Given the description of an element on the screen output the (x, y) to click on. 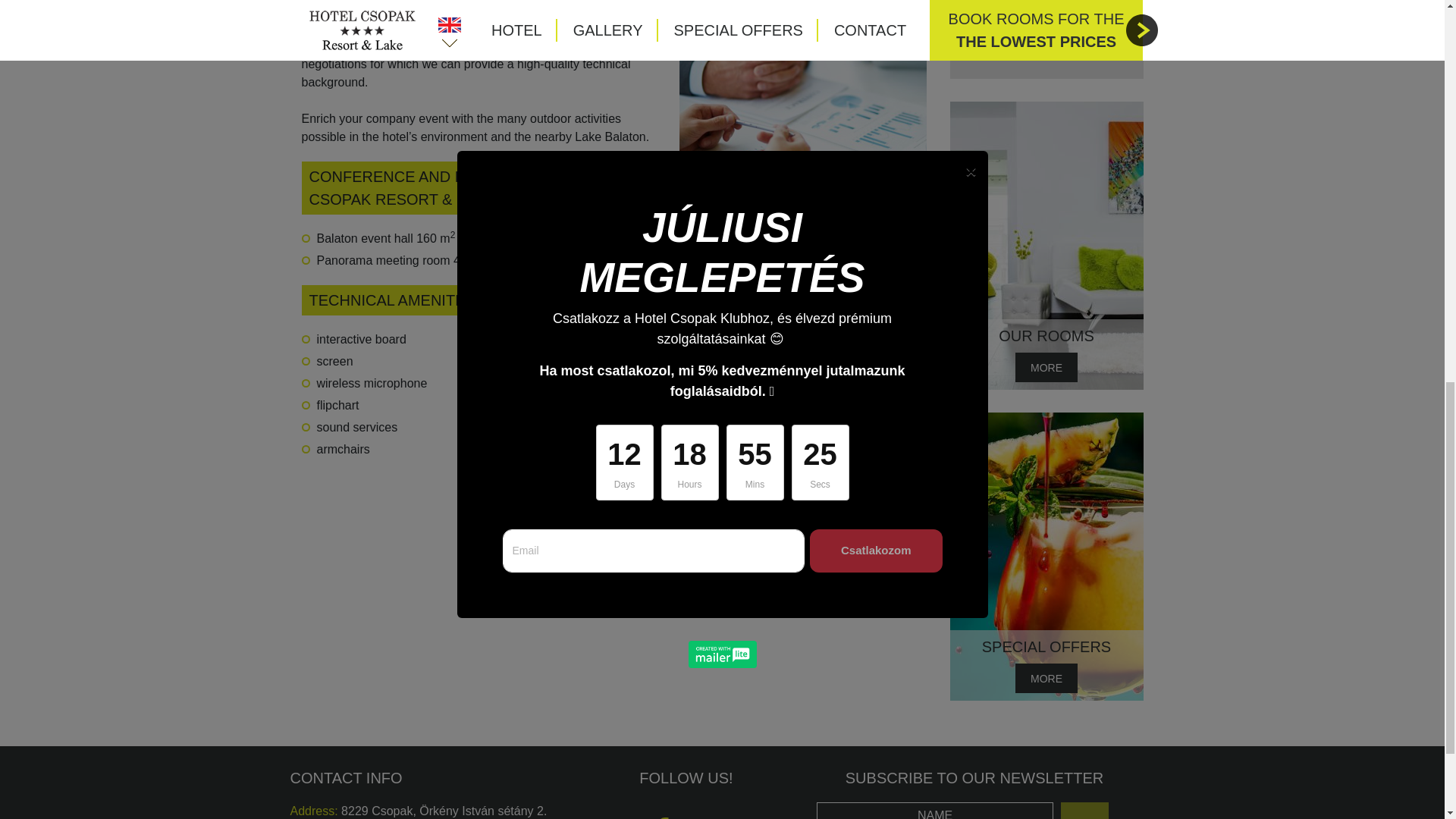
GET A PRICE QUOTE (1046, 43)
